Given the description of an element on the screen output the (x, y) to click on. 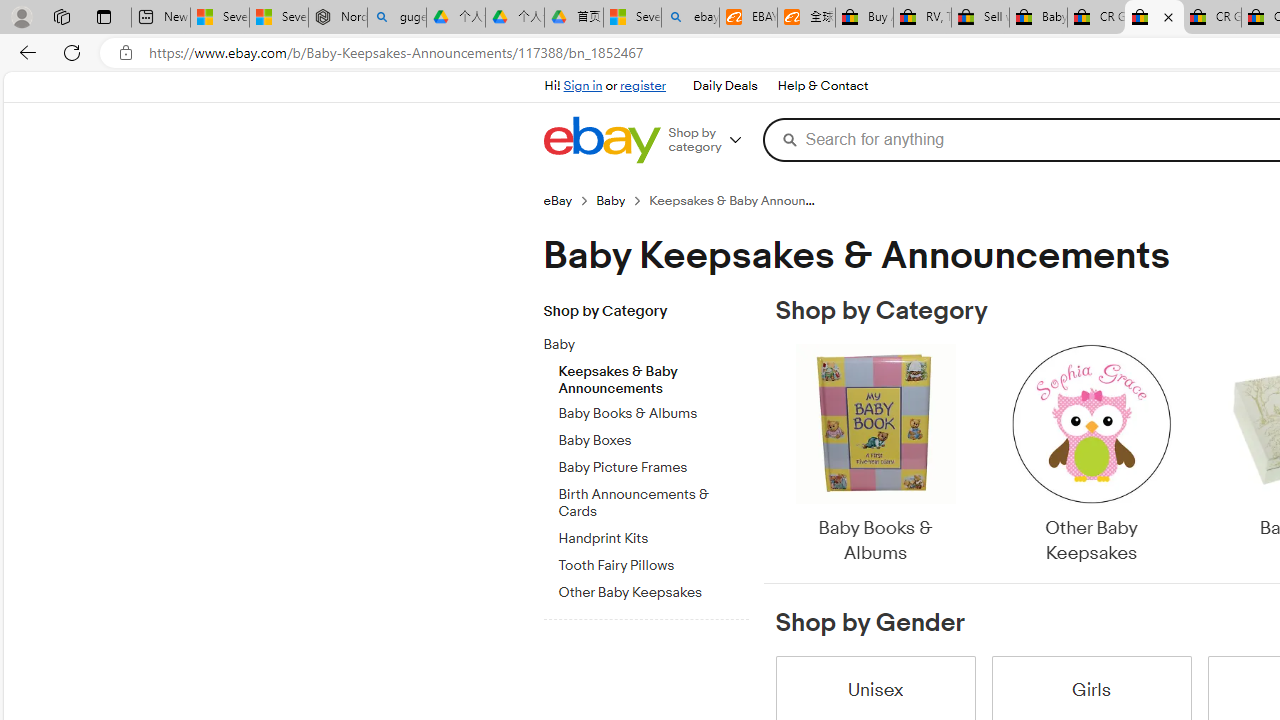
Go to previous slide (775, 455)
Sign in (582, 85)
Help & Contact (821, 85)
Close tab (1168, 16)
